Given the description of an element on the screen output the (x, y) to click on. 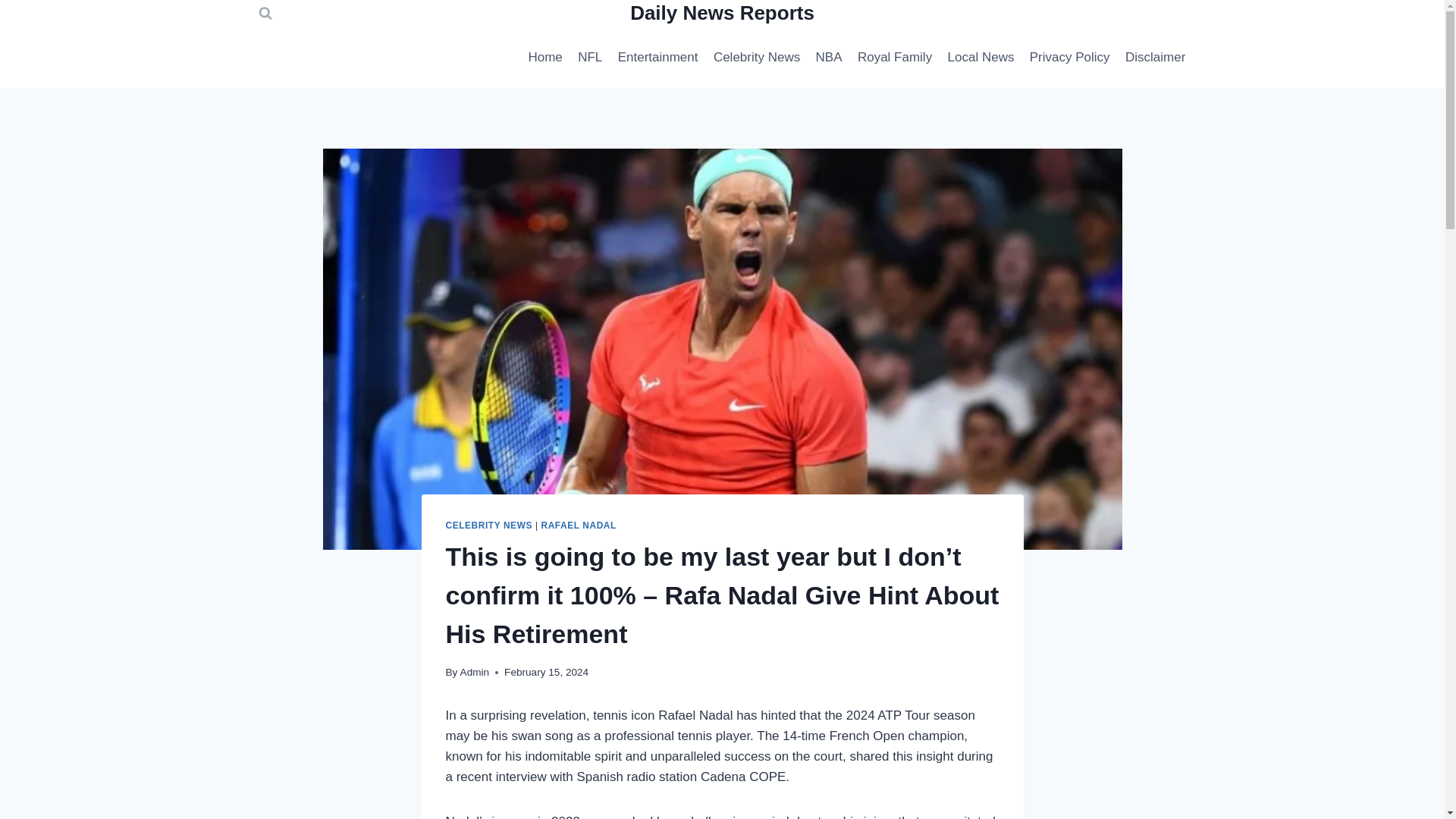
Daily News Reports (721, 12)
CELEBRITY NEWS (488, 523)
NFL (590, 55)
Privacy Policy (1070, 55)
Local News (980, 55)
Entertainment (657, 55)
Celebrity News (757, 55)
NBA (828, 55)
RAFAEL NADAL (577, 523)
Royal Family (895, 55)
Admin (474, 663)
Home (544, 55)
Disclaimer (1155, 55)
